Given the description of an element on the screen output the (x, y) to click on. 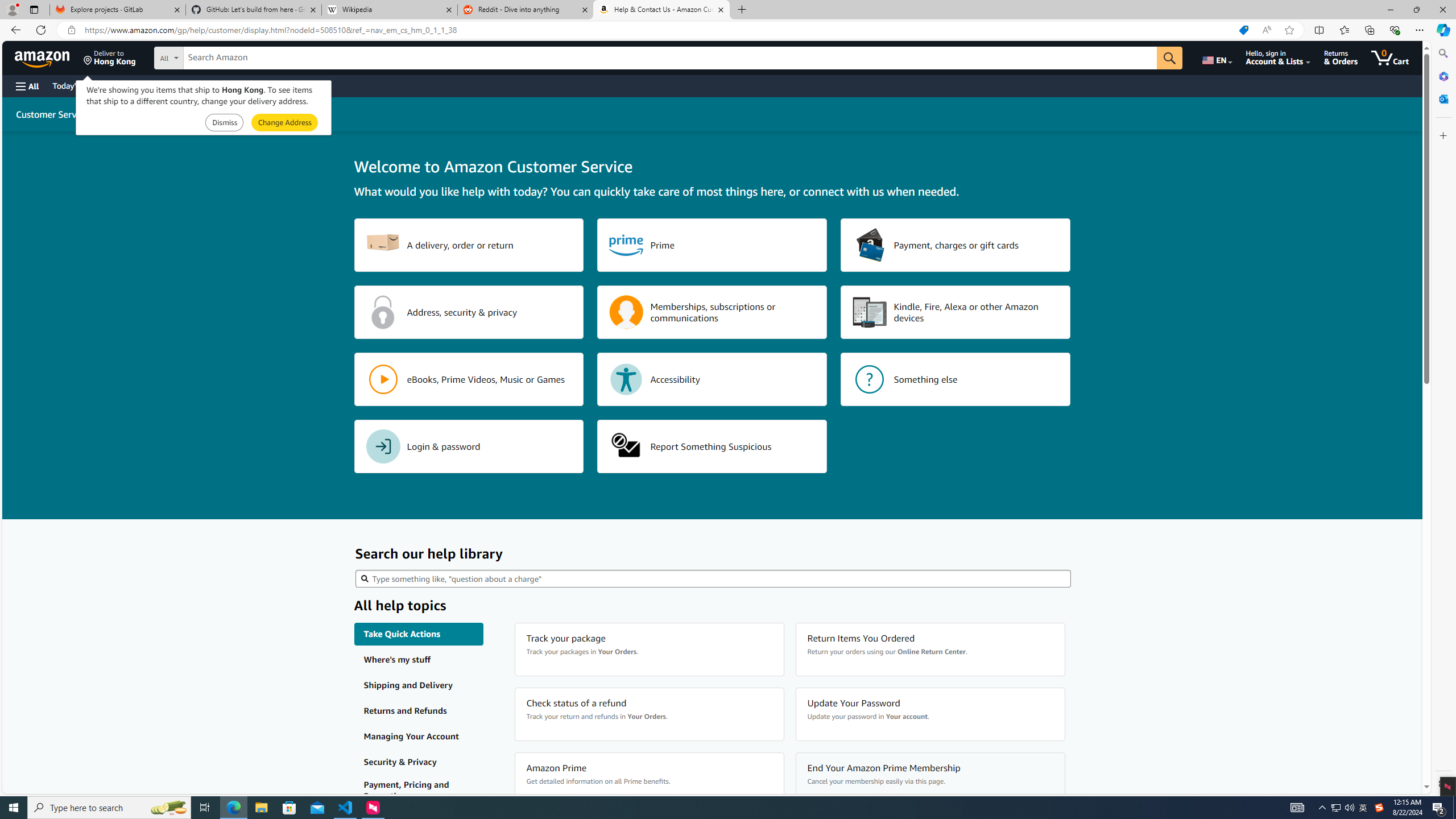
Address, security & privacy (468, 312)
Update Your Password Update your password in Your account. (929, 714)
Today's Deals (76, 85)
Payment, charges or gift cards (955, 244)
Open Menu (26, 86)
Go (1169, 57)
Class: help-topics (418, 790)
Gift Cards (251, 85)
